Given the description of an element on the screen output the (x, y) to click on. 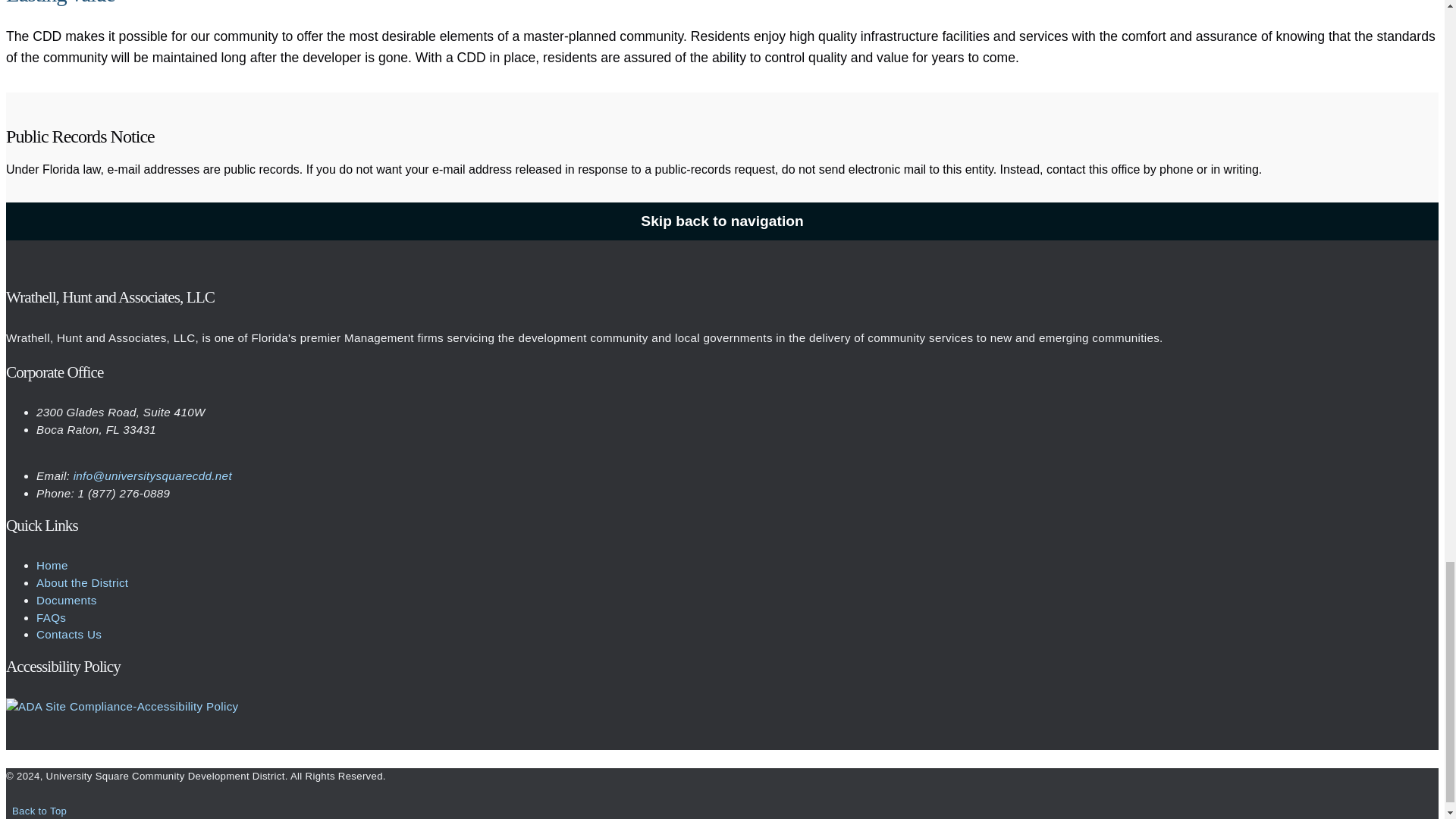
About the District (82, 582)
Contacts Us (68, 634)
FAQs (50, 617)
Home (52, 564)
Documents (66, 599)
